Given the description of an element on the screen output the (x, y) to click on. 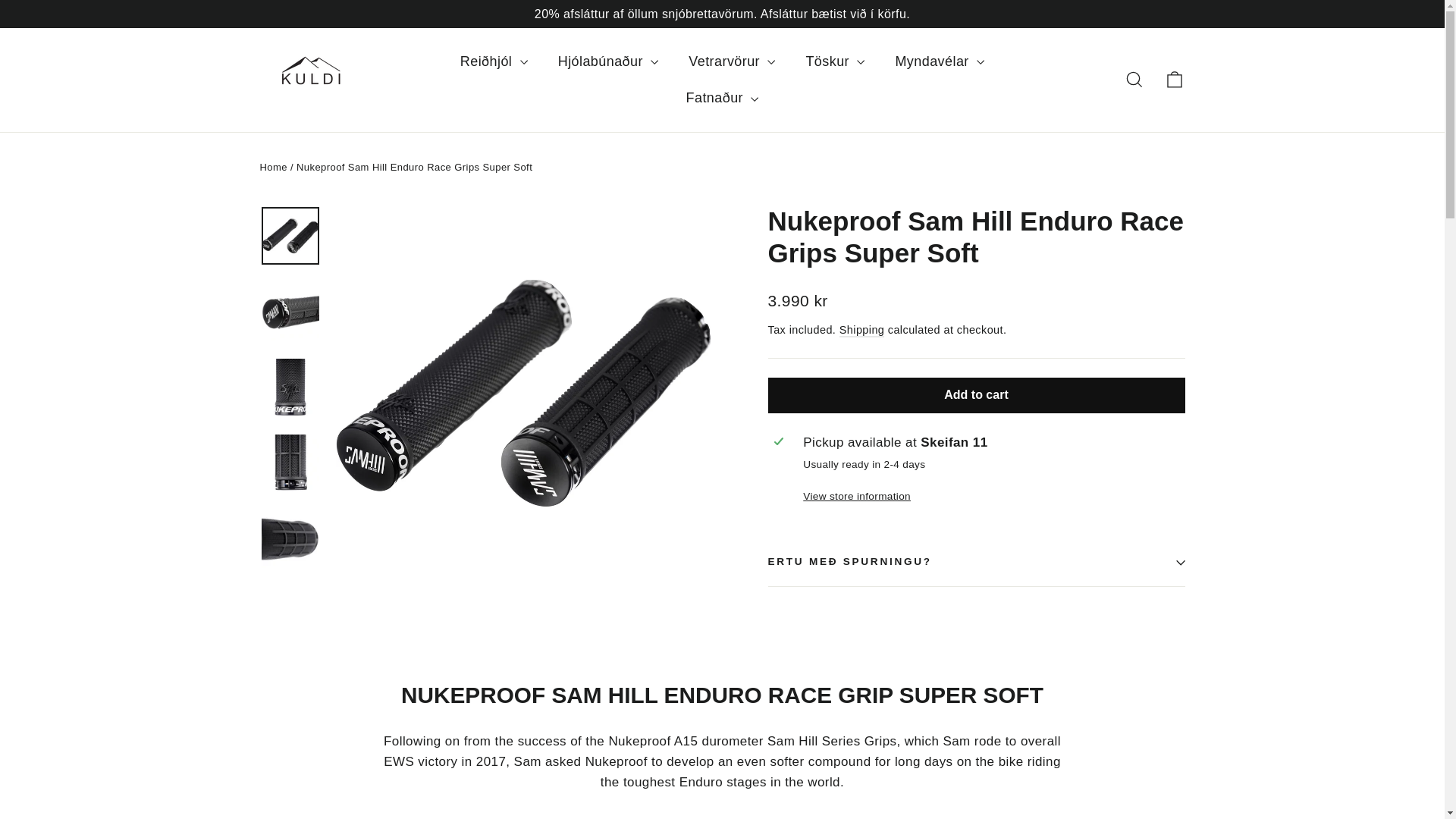
Back to the frontpage (272, 166)
icon-search (1134, 79)
icon-bag-minimal (1174, 79)
